Given the description of an element on the screen output the (x, y) to click on. 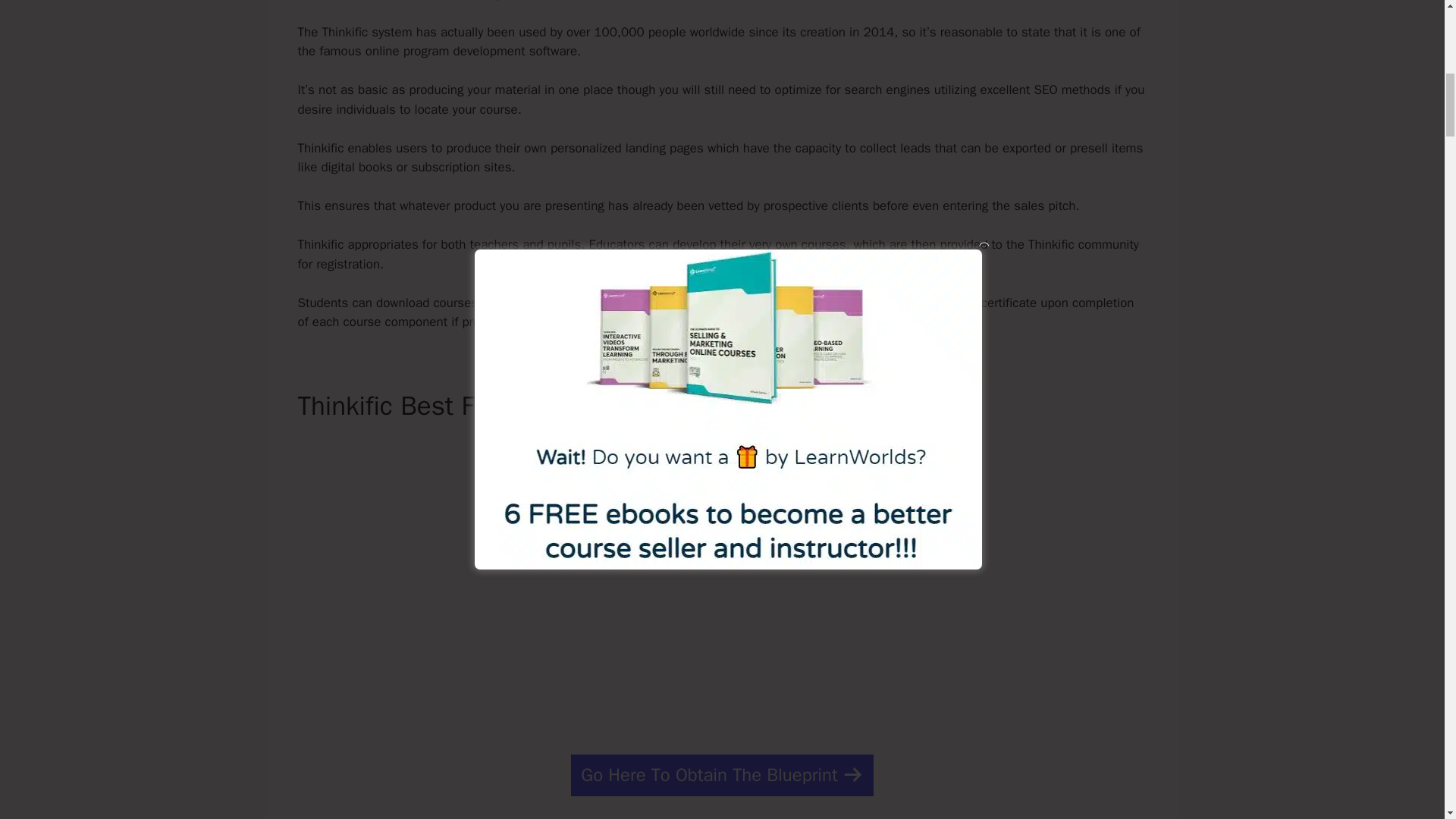
Go Here To Obtain The Blueprint (721, 775)
